Given the description of an element on the screen output the (x, y) to click on. 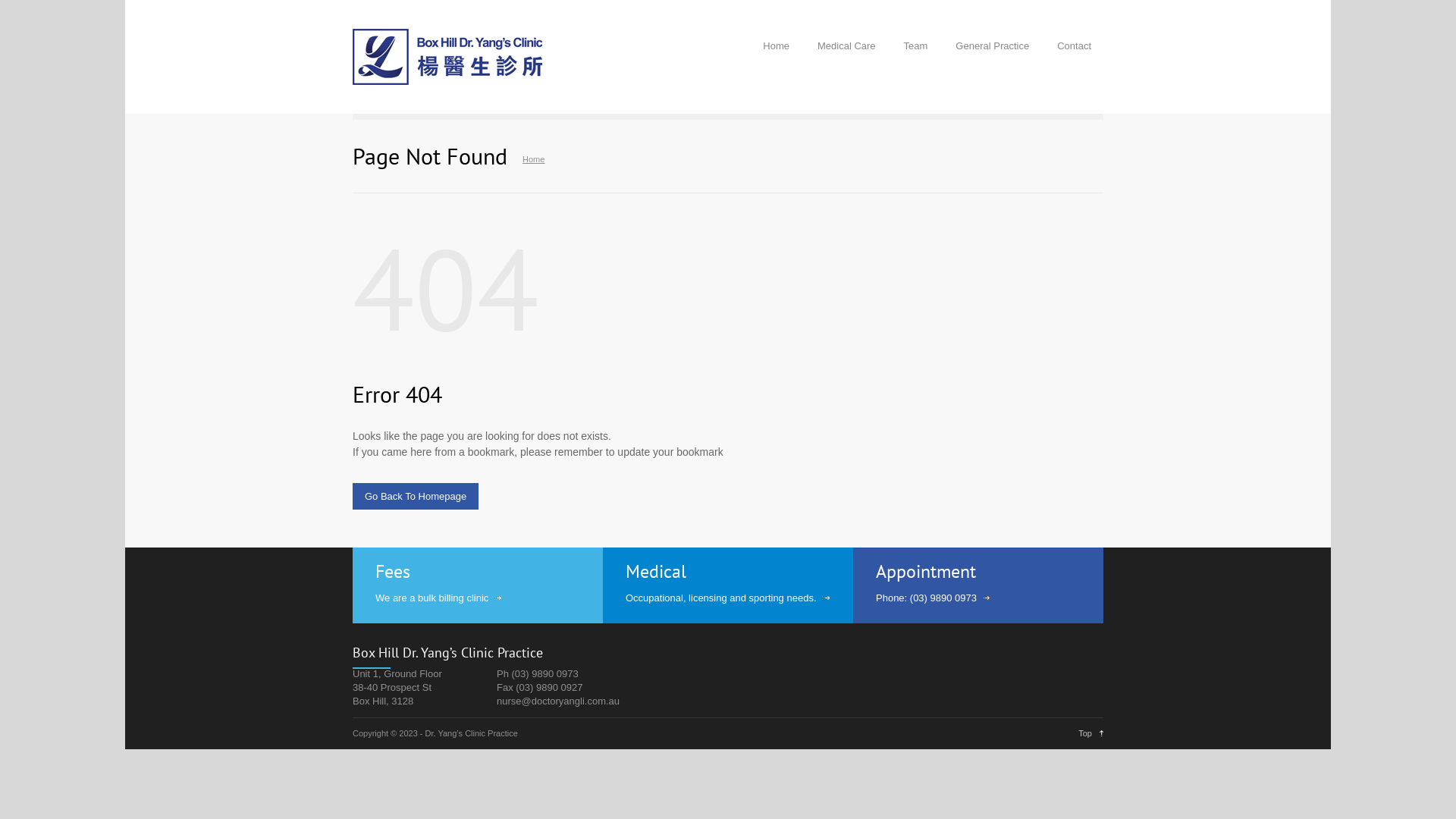
Fees Element type: text (399, 571)
General Practice Element type: text (992, 45)
Go Back To Homepage Element type: text (415, 496)
Occupational, licensing and sporting needs. Element type: text (727, 597)
Top Element type: text (1090, 732)
We are a bulk billing clinic Element type: text (438, 597)
Team Element type: text (915, 45)
Home Element type: text (775, 45)
Medical Element type: text (662, 571)
Medical Care Element type: text (846, 45)
Contact Element type: text (1073, 45)
Appointment Element type: text (931, 571)
Phone: (03) 9890 0973 Element type: text (932, 597)
Home Element type: text (533, 158)
